Given the description of an element on the screen output the (x, y) to click on. 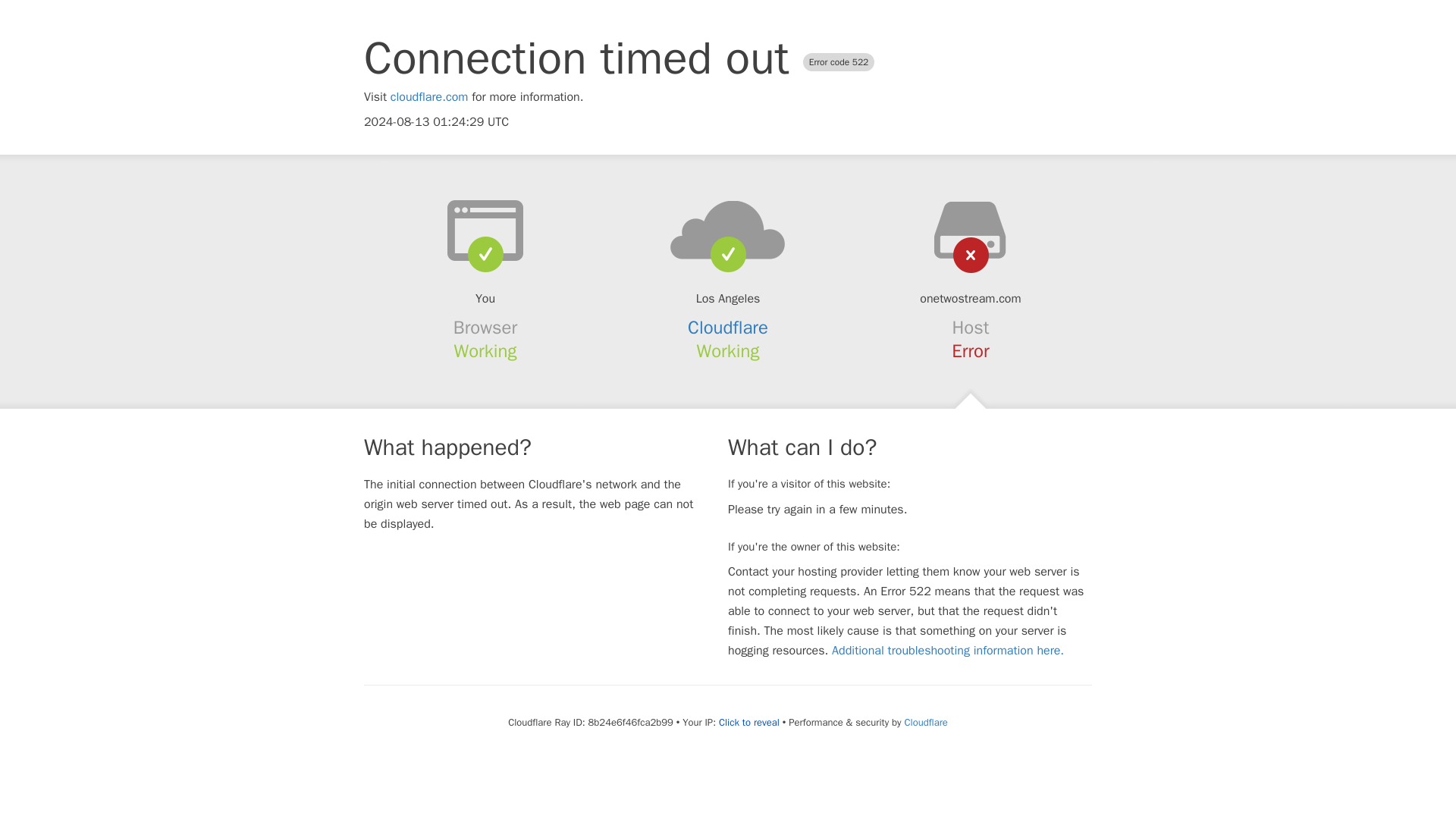
Additional troubleshooting information here. (947, 650)
Cloudflare (925, 721)
Click to reveal (748, 722)
cloudflare.com (429, 96)
Cloudflare (727, 327)
